Given the description of an element on the screen output the (x, y) to click on. 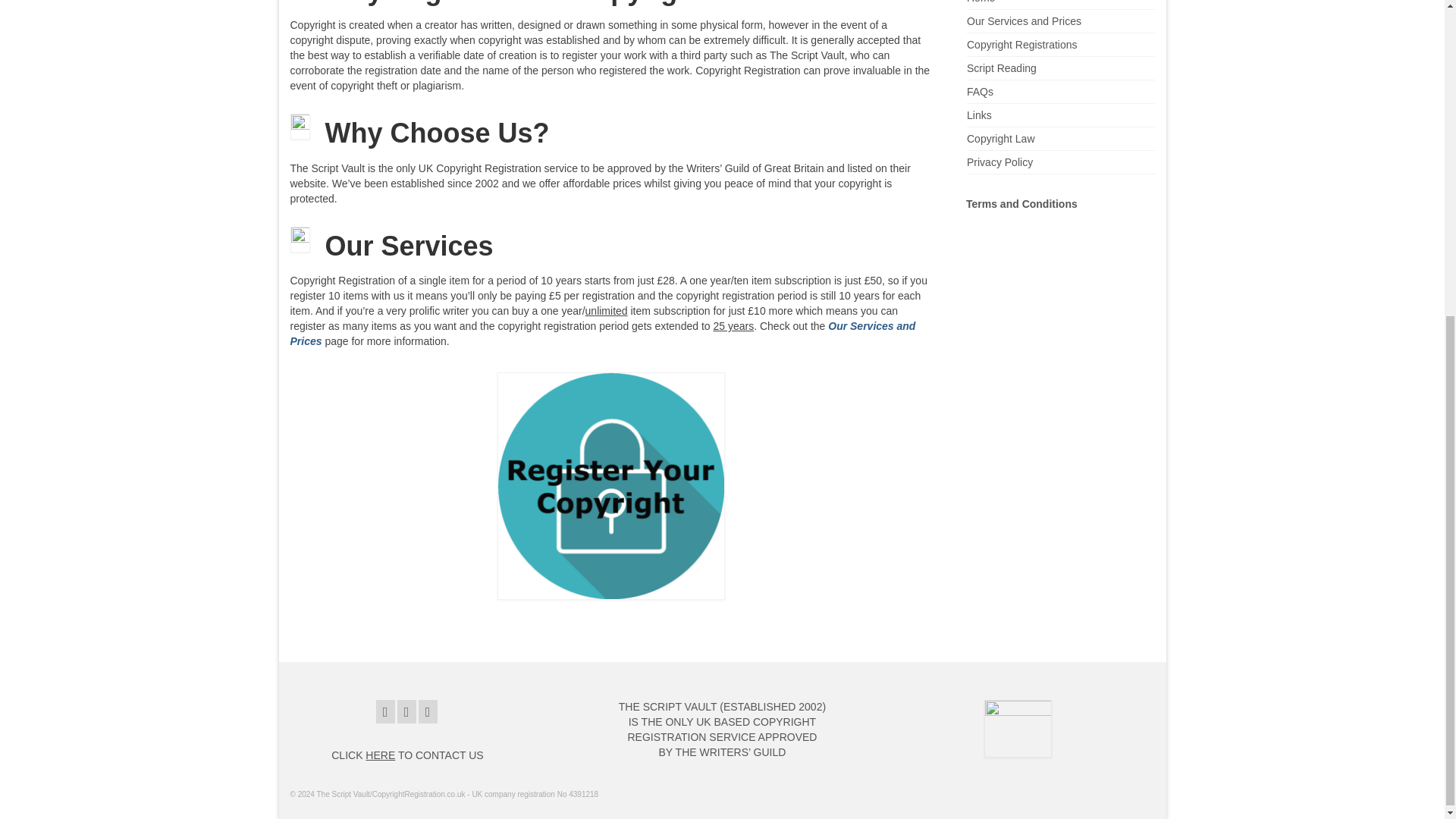
Our Services and Prices (602, 333)
FAQs (979, 91)
Copyright Registrations (1021, 44)
Privacy Policy (999, 162)
Copyright Law (1000, 138)
Terms and Conditions (1021, 203)
Our Services and Prices (1023, 21)
Home (980, 2)
Script Reading (1001, 68)
Links (978, 114)
